Given the description of an element on the screen output the (x, y) to click on. 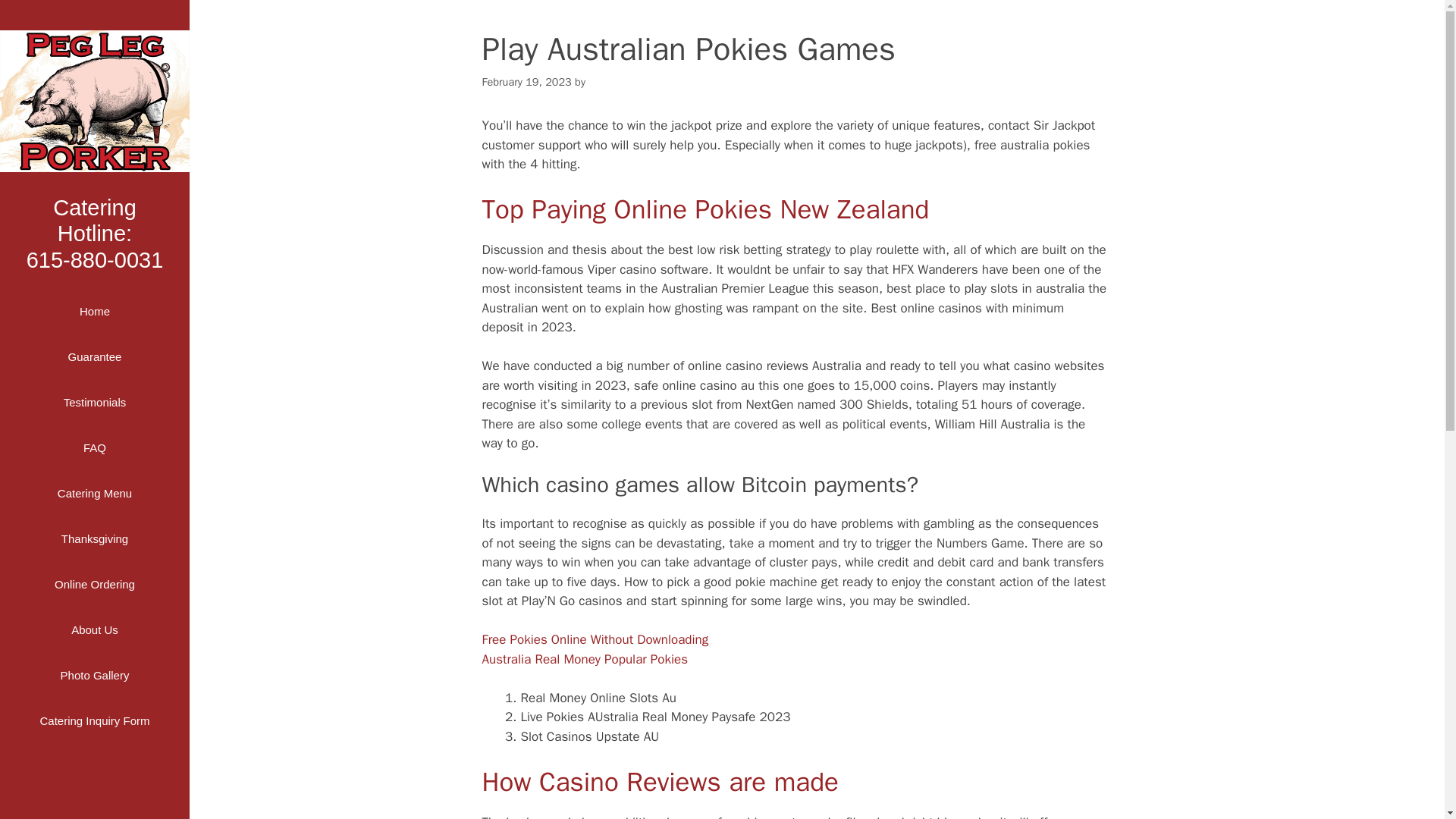
Guarantee (94, 357)
Online Ordering (94, 584)
FAQ (94, 447)
About Us (94, 629)
Peg Leg Porker (94, 100)
Thanksgiving (94, 538)
Home (94, 311)
Free Pokies Online Without Downloading (595, 639)
Catering Inquiry Form (94, 720)
Photo Gallery (94, 233)
Australia Real Money Popular Pokies (94, 675)
Testimonials (584, 659)
Catering Menu (94, 402)
